Given the description of an element on the screen output the (x, y) to click on. 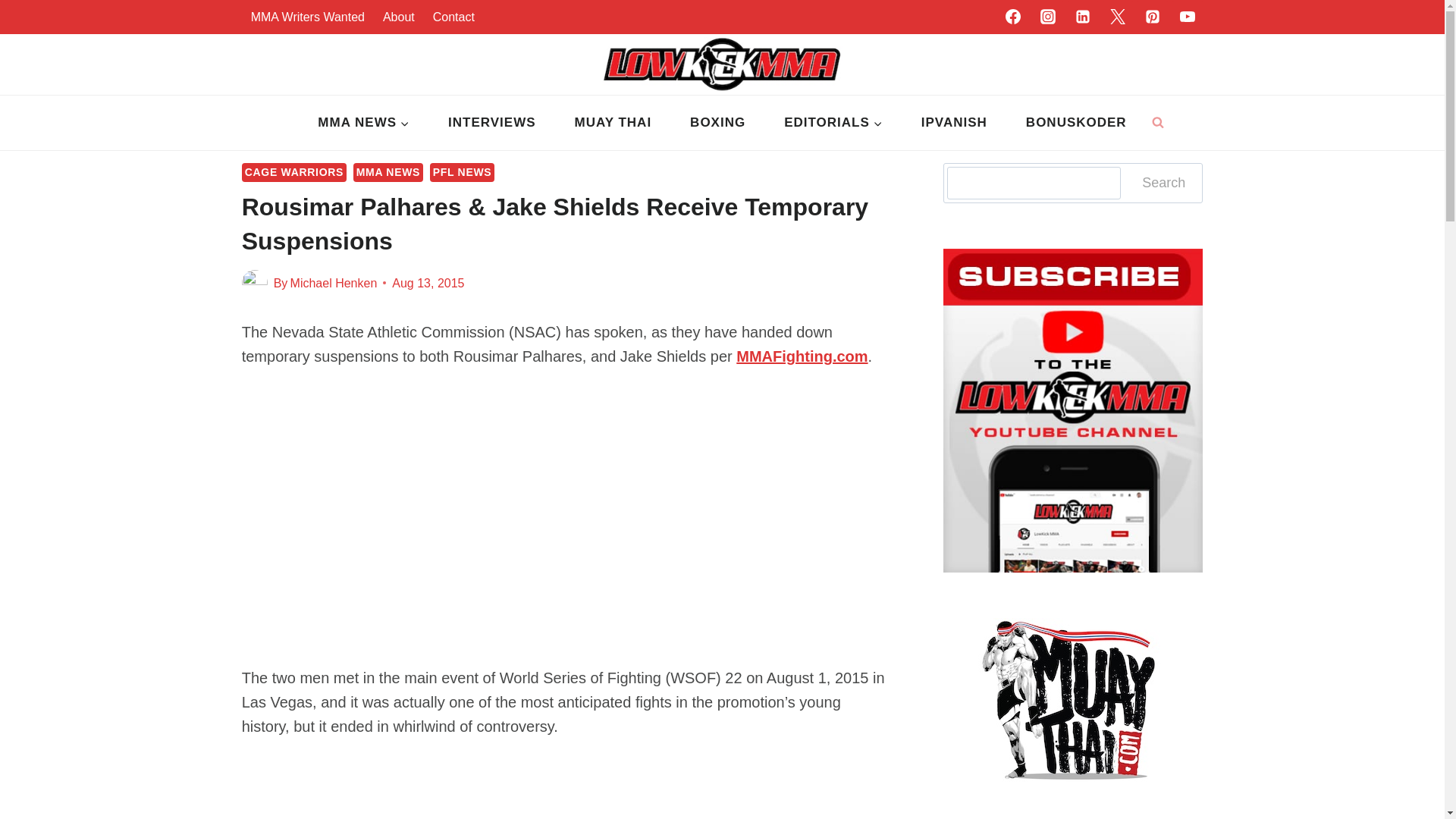
EDITORIALS (833, 122)
INTERVIEWS (491, 122)
MMA NEWS (363, 122)
MUAY THAI (612, 122)
MMA Writers Wanted (307, 17)
IPVANISH (953, 122)
BOXING (718, 122)
About (398, 17)
Contact (453, 17)
BONUSKODER (1075, 122)
